Given the description of an element on the screen output the (x, y) to click on. 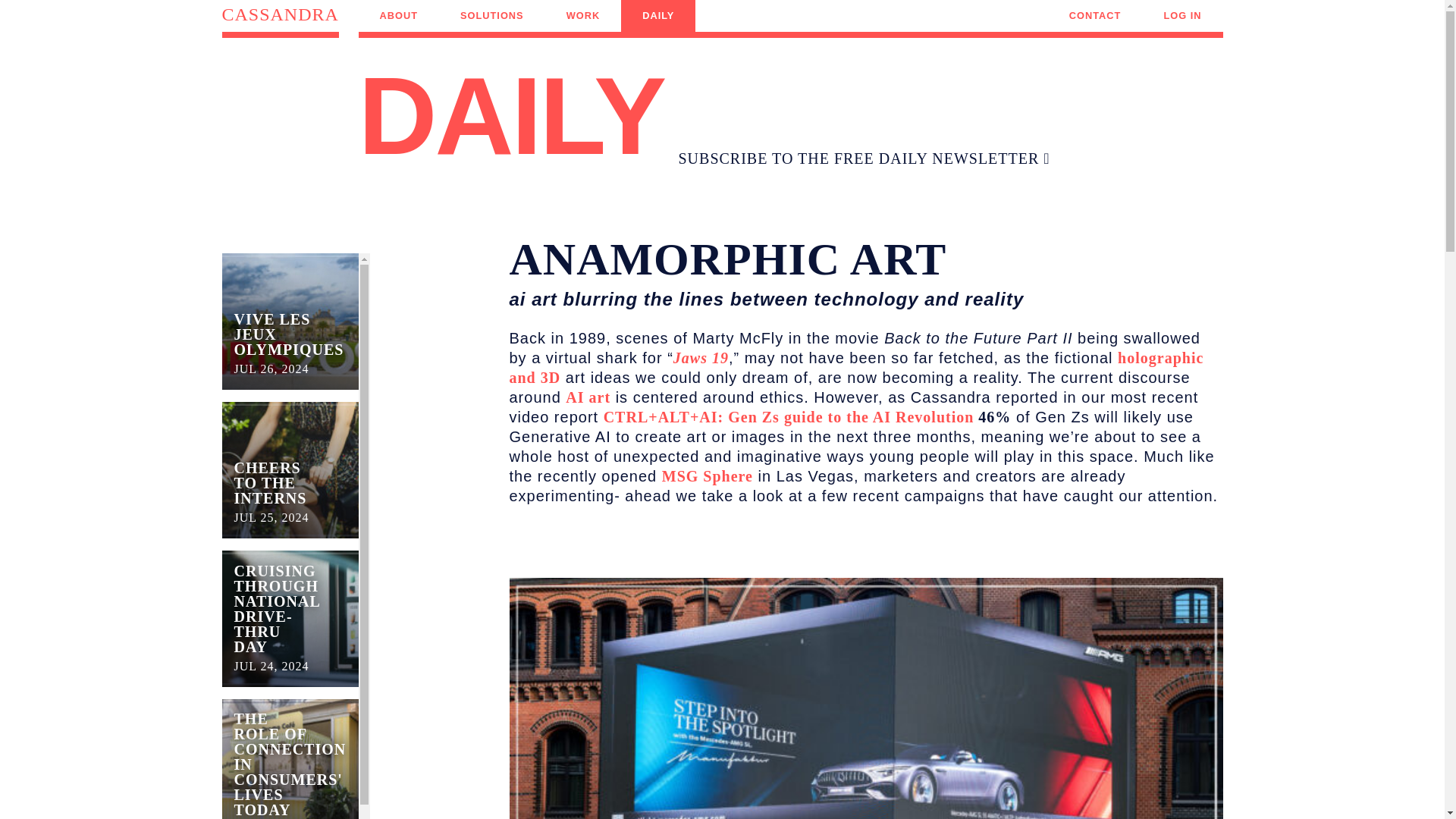
WORK (289, 321)
CASSANDRA (582, 16)
LOG IN (289, 470)
ABOUT (279, 20)
CONTACT (1182, 16)
SUBSCRIBE TO THE FREE DAILY NEWSLETTER (398, 16)
SOLUTIONS (1095, 16)
DAILY (863, 158)
